Given the description of an element on the screen output the (x, y) to click on. 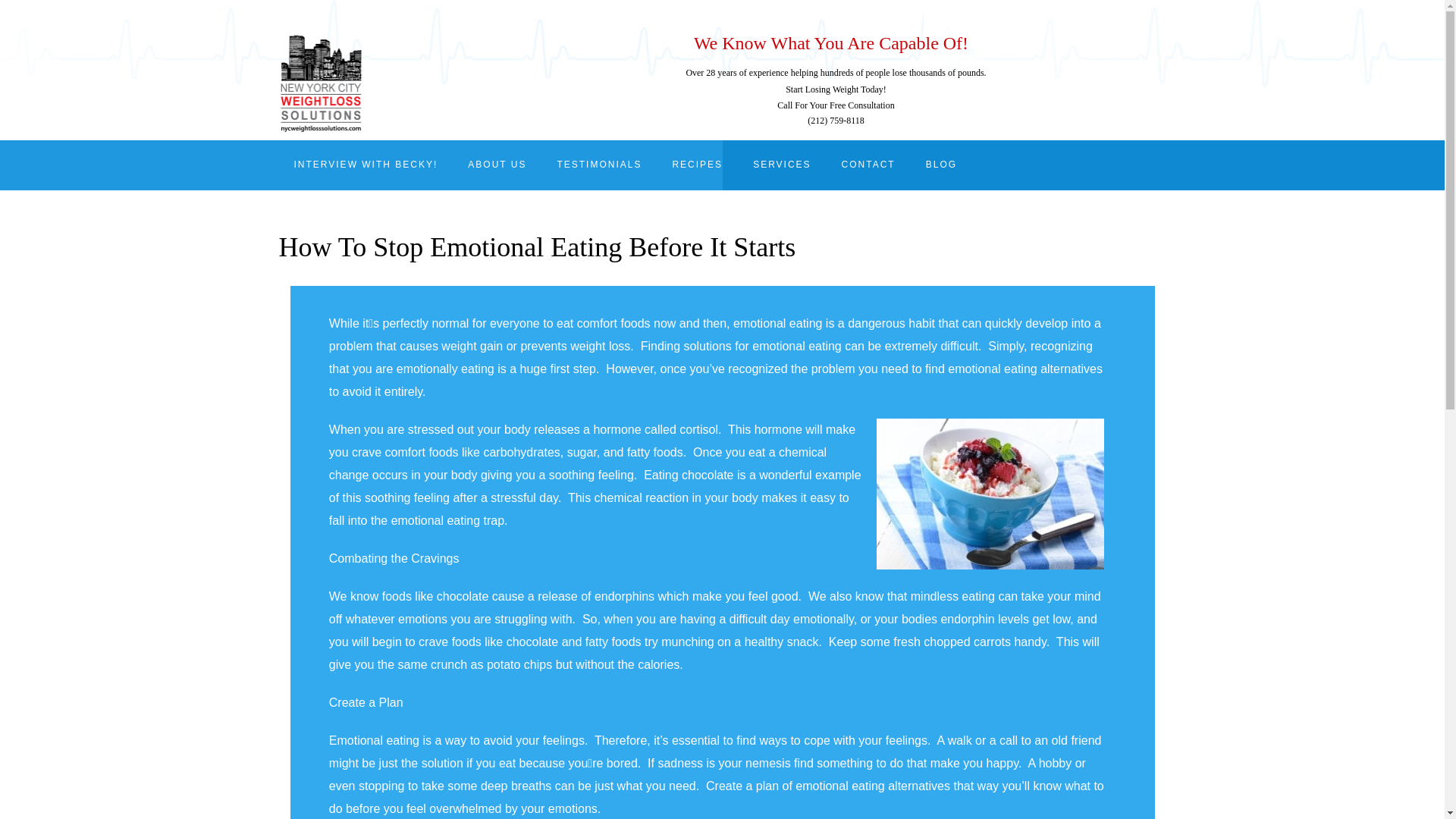
Blog (941, 165)
About Us (496, 165)
BLOG (941, 165)
Services (781, 165)
ABOUT US (496, 165)
CONTACT (869, 165)
Testimonials (598, 165)
Contact (869, 165)
RECIPES (697, 165)
SERVICES (781, 165)
Recipes (697, 165)
TESTIMONIALS (598, 165)
INTERVIEW WITH BECKY! (365, 165)
Interview With Becky! (365, 165)
